Given the description of an element on the screen output the (x, y) to click on. 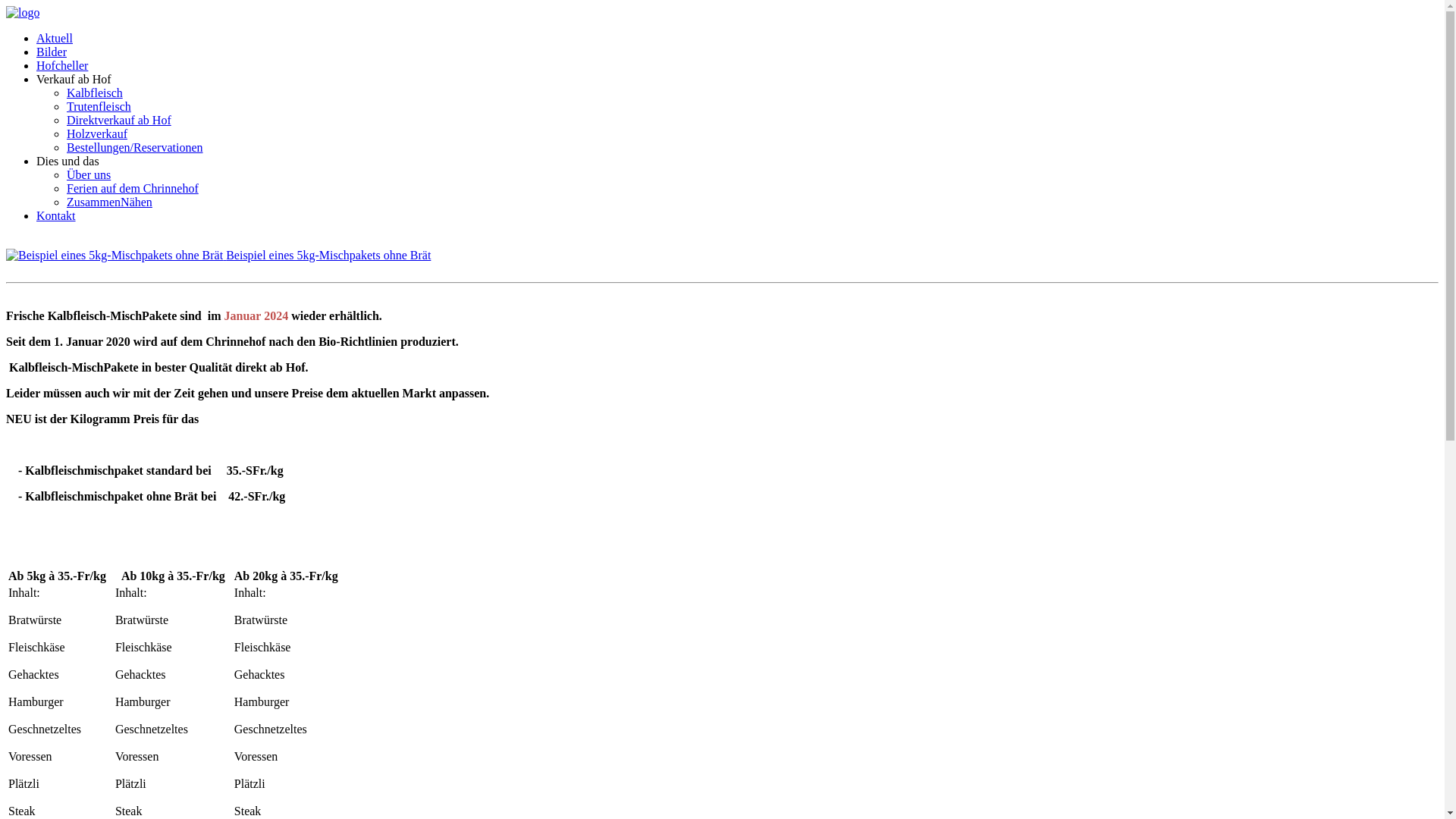
Ferien auf dem Chrinnehof Element type: text (132, 188)
Bestellungen/Reservationen Element type: text (134, 147)
Hofcheller Element type: text (61, 65)
Bilder Element type: text (51, 51)
Trutenfleisch Element type: text (98, 106)
Aktuell Element type: text (54, 37)
Kontakt Element type: text (55, 215)
Kalbfleisch Element type: text (94, 92)
Holzverkauf Element type: text (96, 133)
Direktverkauf ab Hof Element type: text (118, 119)
